Given the description of an element on the screen output the (x, y) to click on. 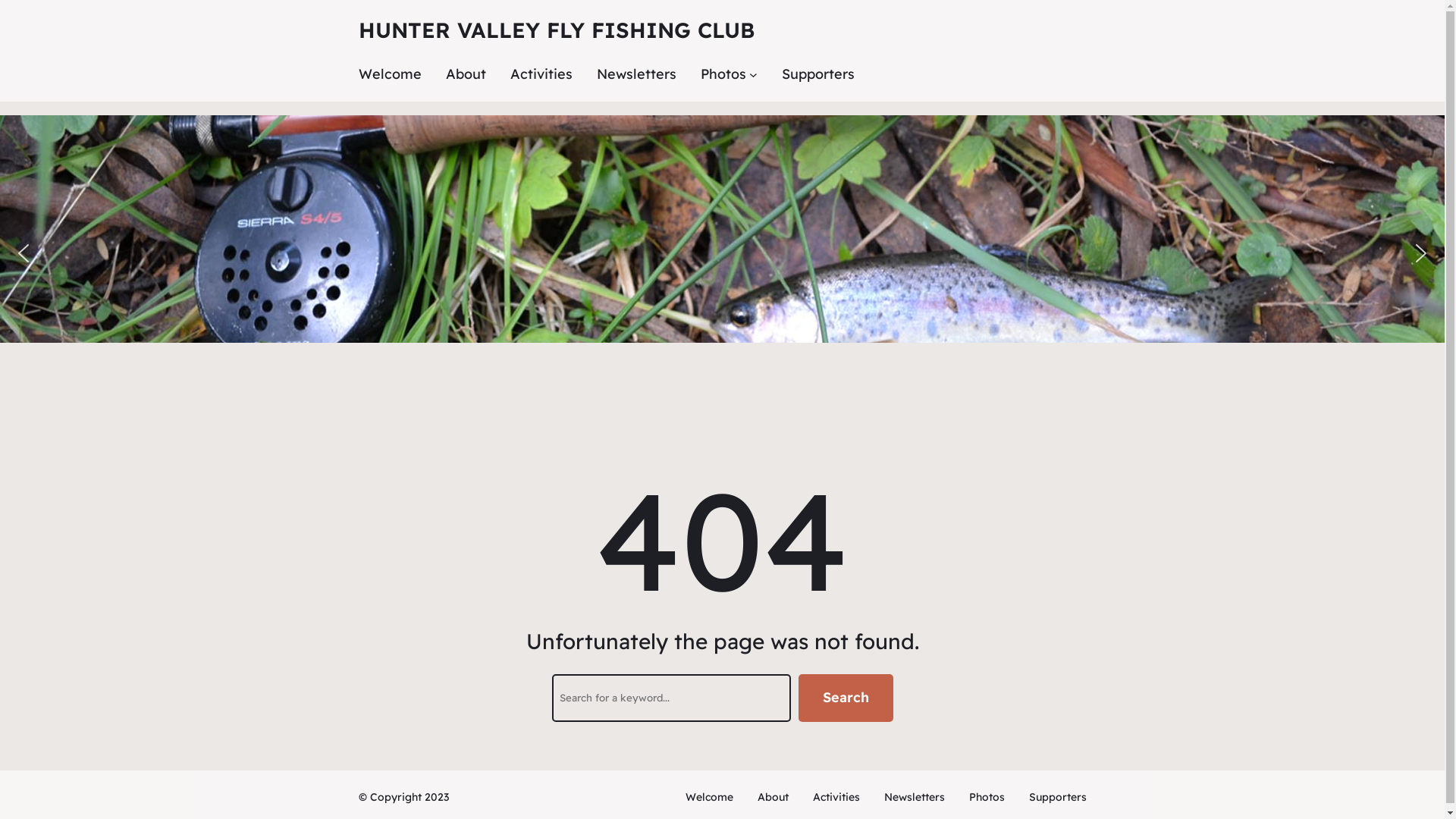
Photos Element type: text (986, 796)
Activities Element type: text (540, 74)
Supporters Element type: text (1056, 796)
Welcome Element type: text (709, 796)
HUNTER VALLEY FLY FISHING CLUB Element type: text (555, 29)
Newsletters Element type: text (914, 796)
About Element type: text (771, 796)
About Element type: text (465, 74)
Welcome Element type: text (388, 74)
Search Element type: text (844, 697)
Photos Element type: text (723, 74)
Activities Element type: text (835, 796)
Supporters Element type: text (817, 74)
Newsletters Element type: text (635, 74)
